Given the description of an element on the screen output the (x, y) to click on. 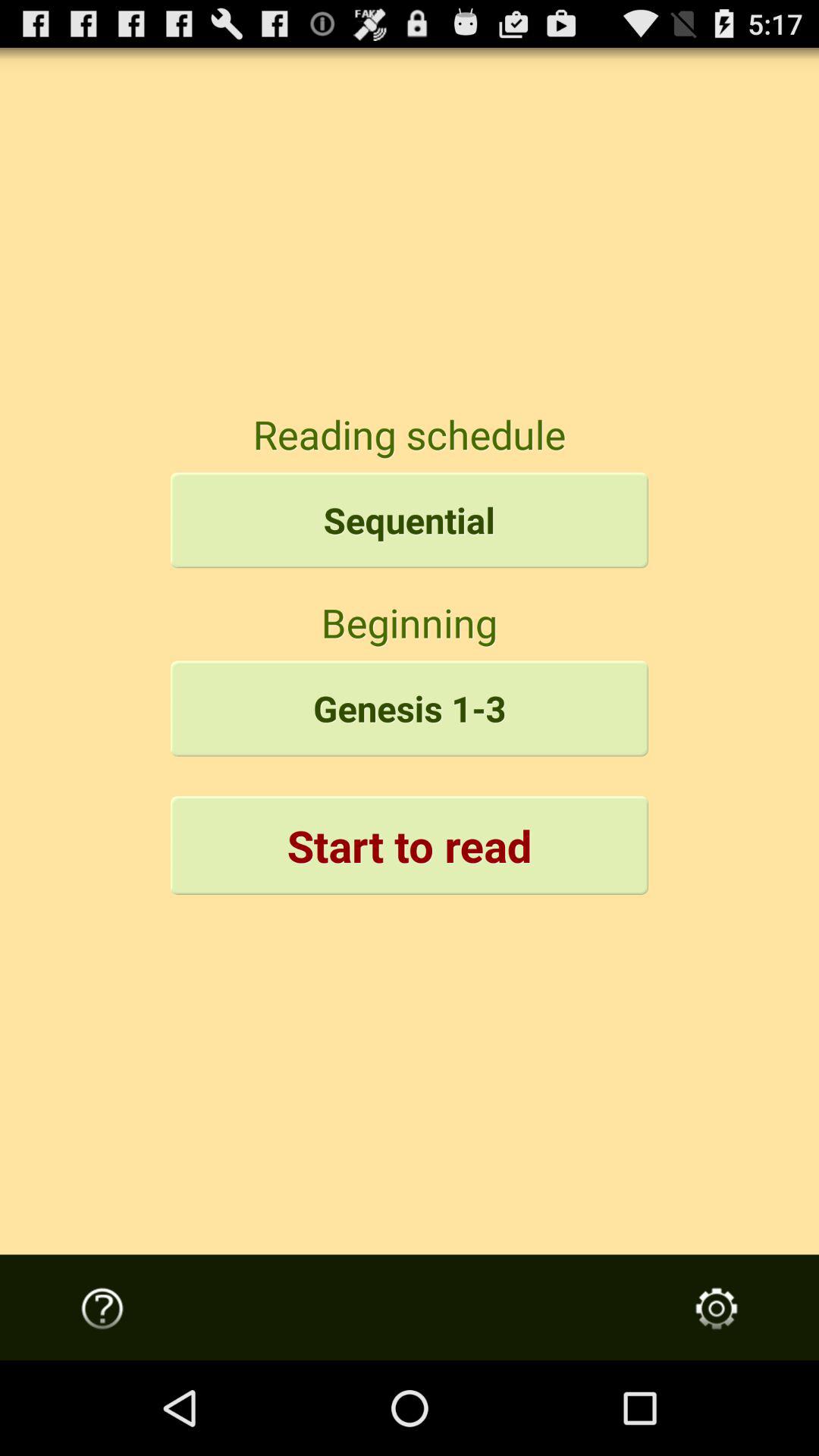
flip to sequential icon (409, 520)
